Given the description of an element on the screen output the (x, y) to click on. 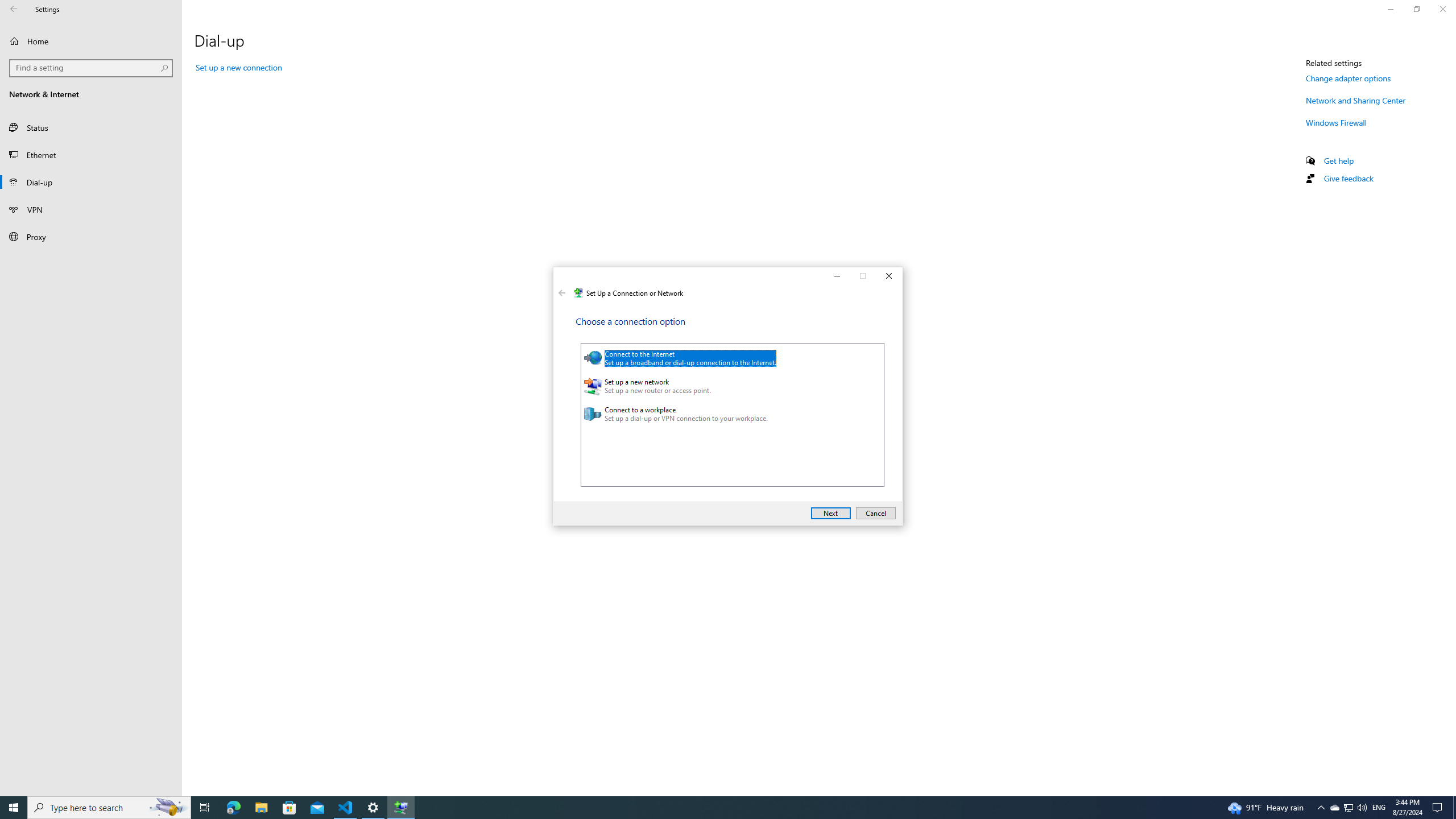
Connect to a workplace (727, 414)
Back (561, 292)
Running applications (706, 807)
Next (830, 513)
Settings - 1 running window (373, 807)
System (559, 277)
Maximize (863, 276)
